Given the description of an element on the screen output the (x, y) to click on. 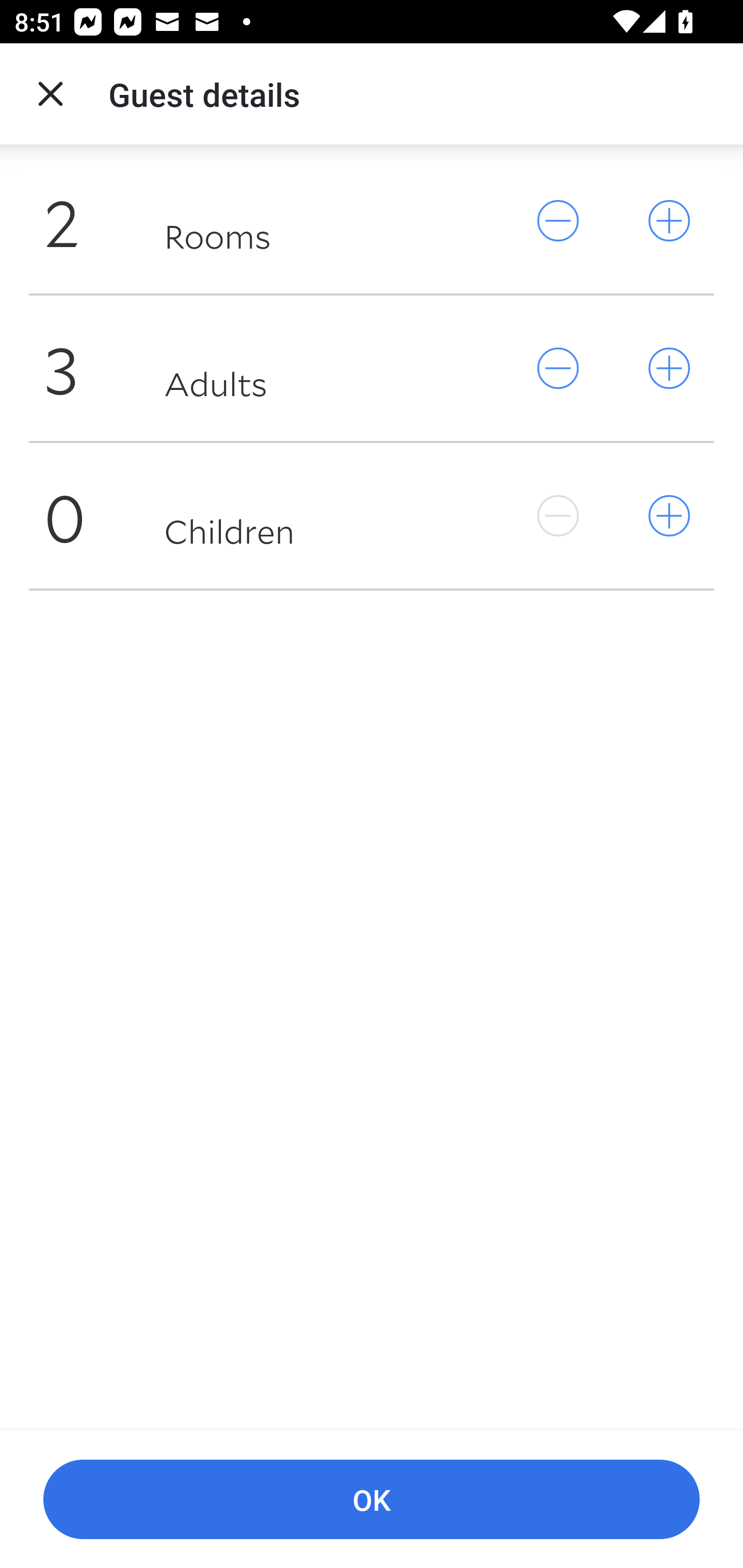
OK (371, 1499)
